Given the description of an element on the screen output the (x, y) to click on. 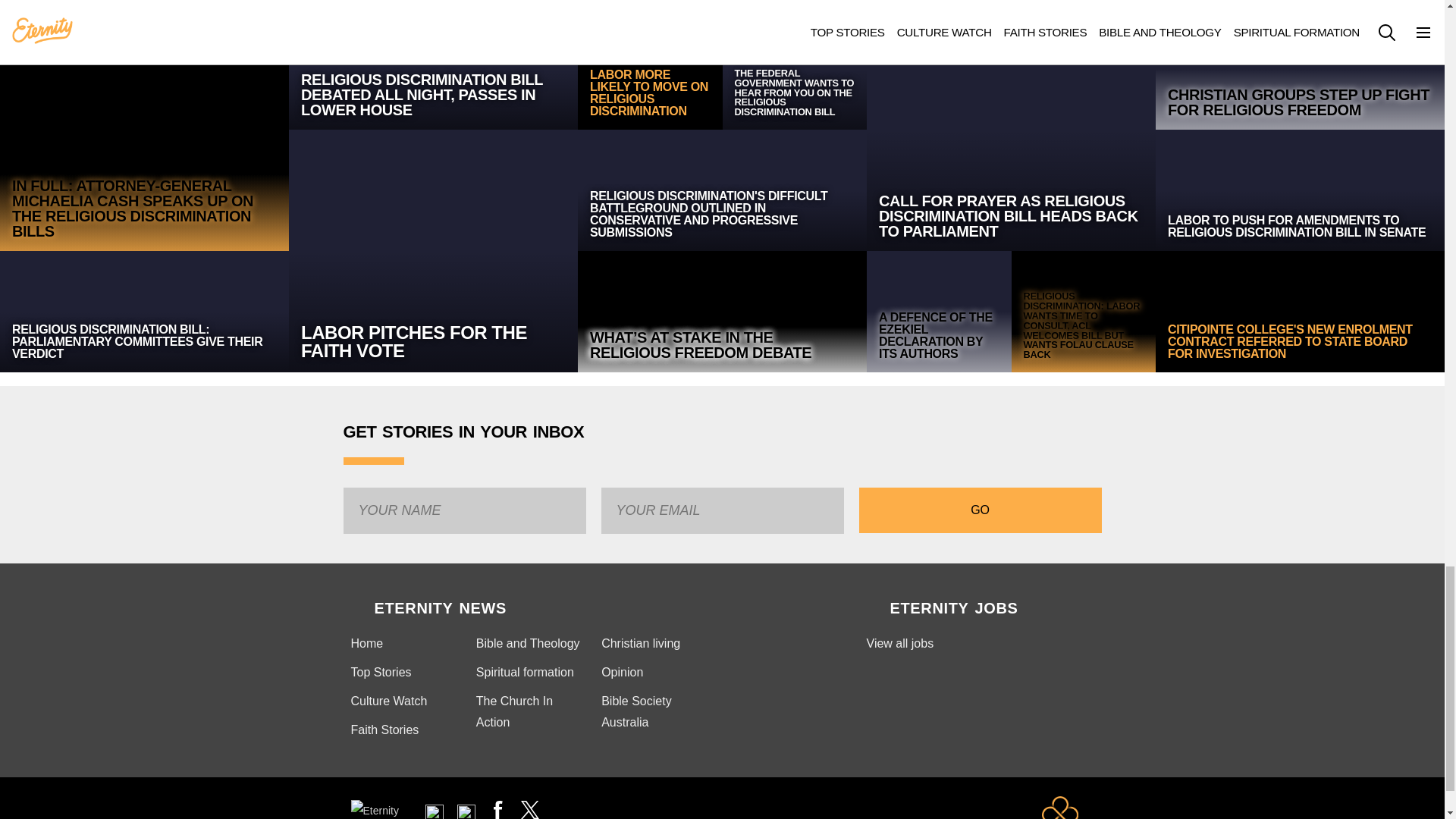
GO (979, 510)
